Given the description of an element on the screen output the (x, y) to click on. 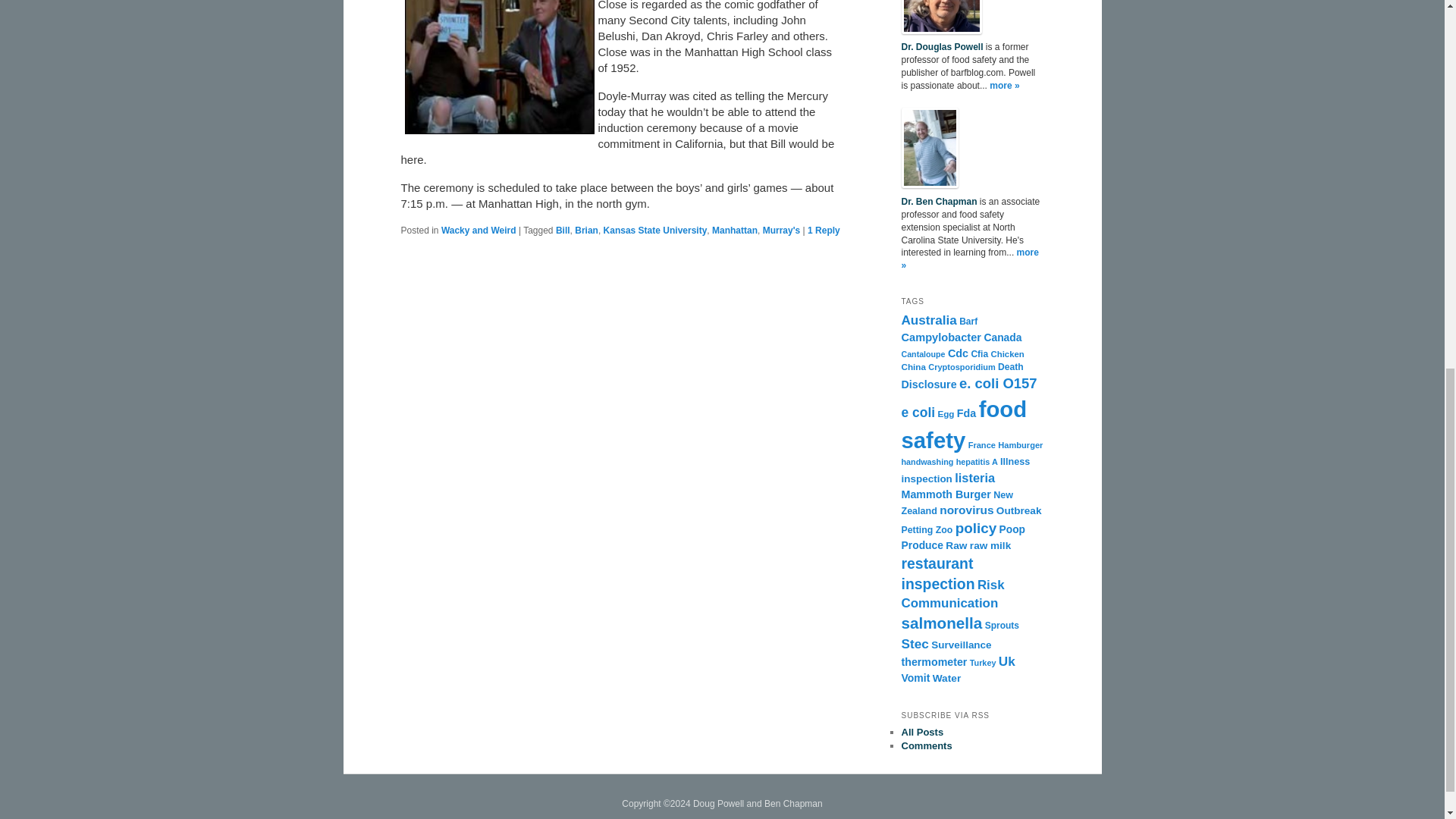
Wacky and Weird (478, 230)
Bill (563, 230)
